Given the description of an element on the screen output the (x, y) to click on. 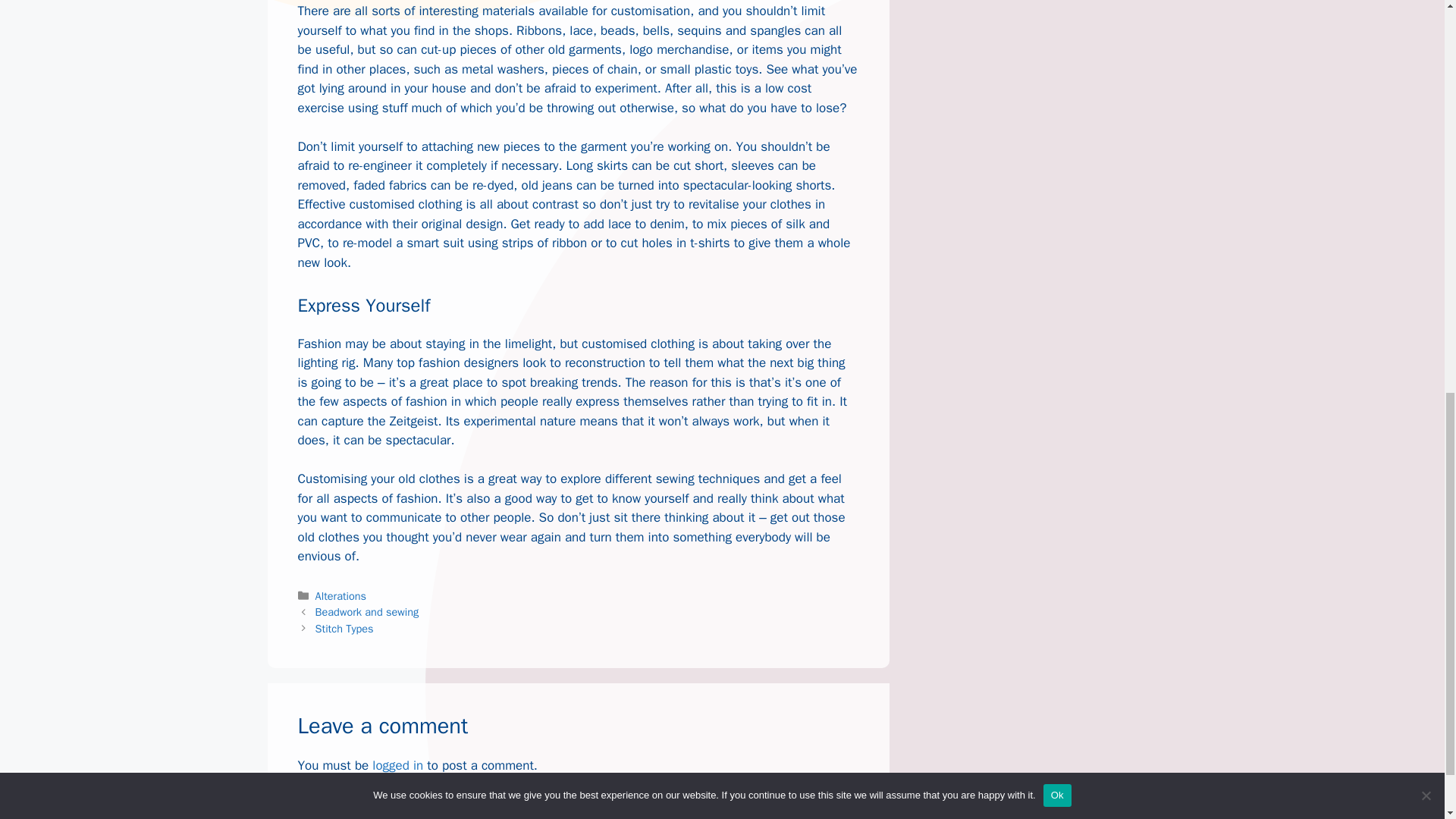
Stitch Types (344, 628)
logged in (397, 765)
Alterations (340, 595)
Beadwork and sewing (367, 612)
